Given the description of an element on the screen output the (x, y) to click on. 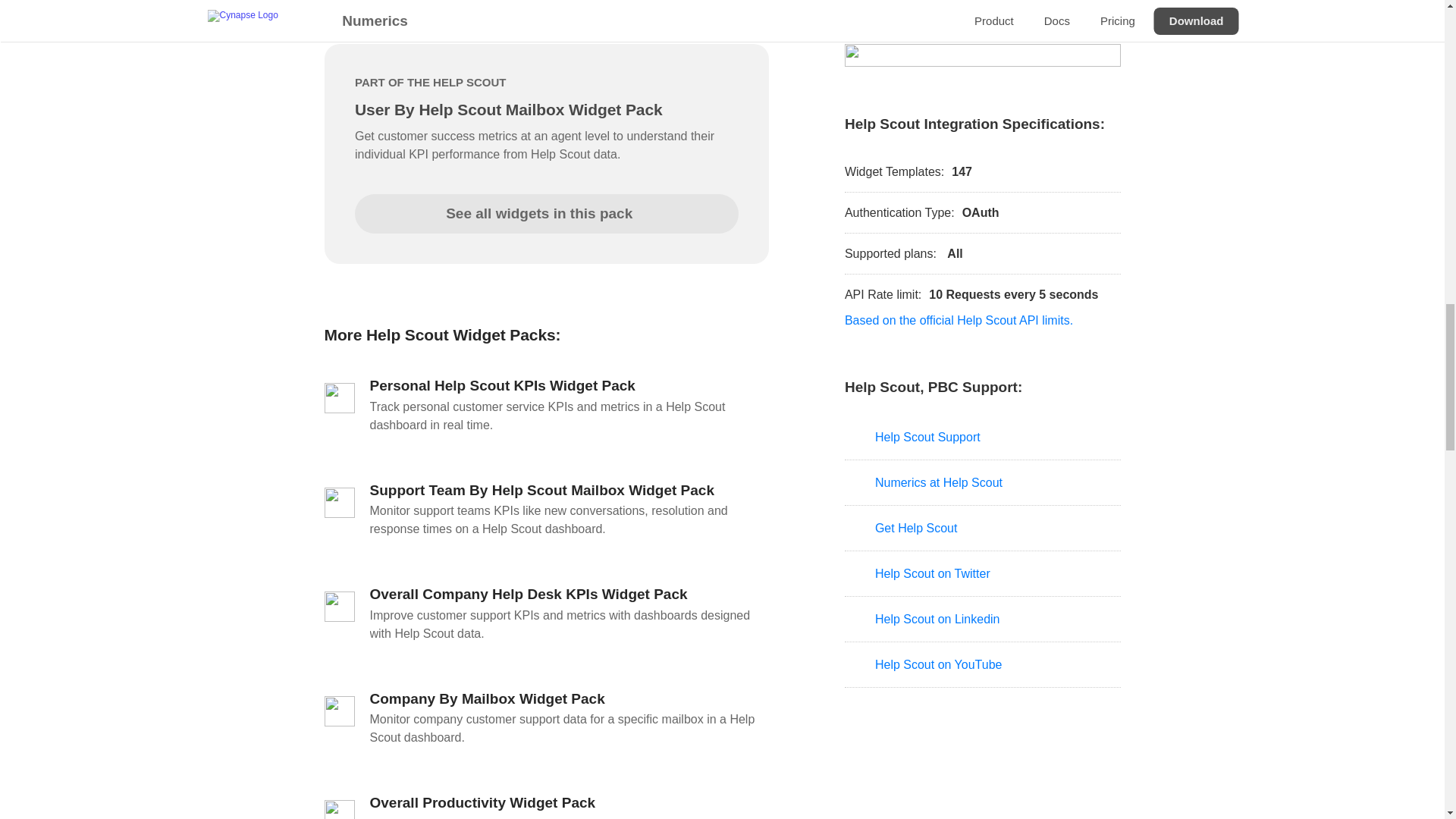
Help Scout Support (982, 437)
Help Scout on Twitter (982, 574)
See all widgets in this pack (546, 212)
Help Scout on YouTube (982, 664)
Numerics at Help Scout (982, 483)
Based on the official Help Scout API limits. (958, 319)
Get Help Scout (982, 528)
Help Scout on Linkedin (982, 619)
